Given the description of an element on the screen output the (x, y) to click on. 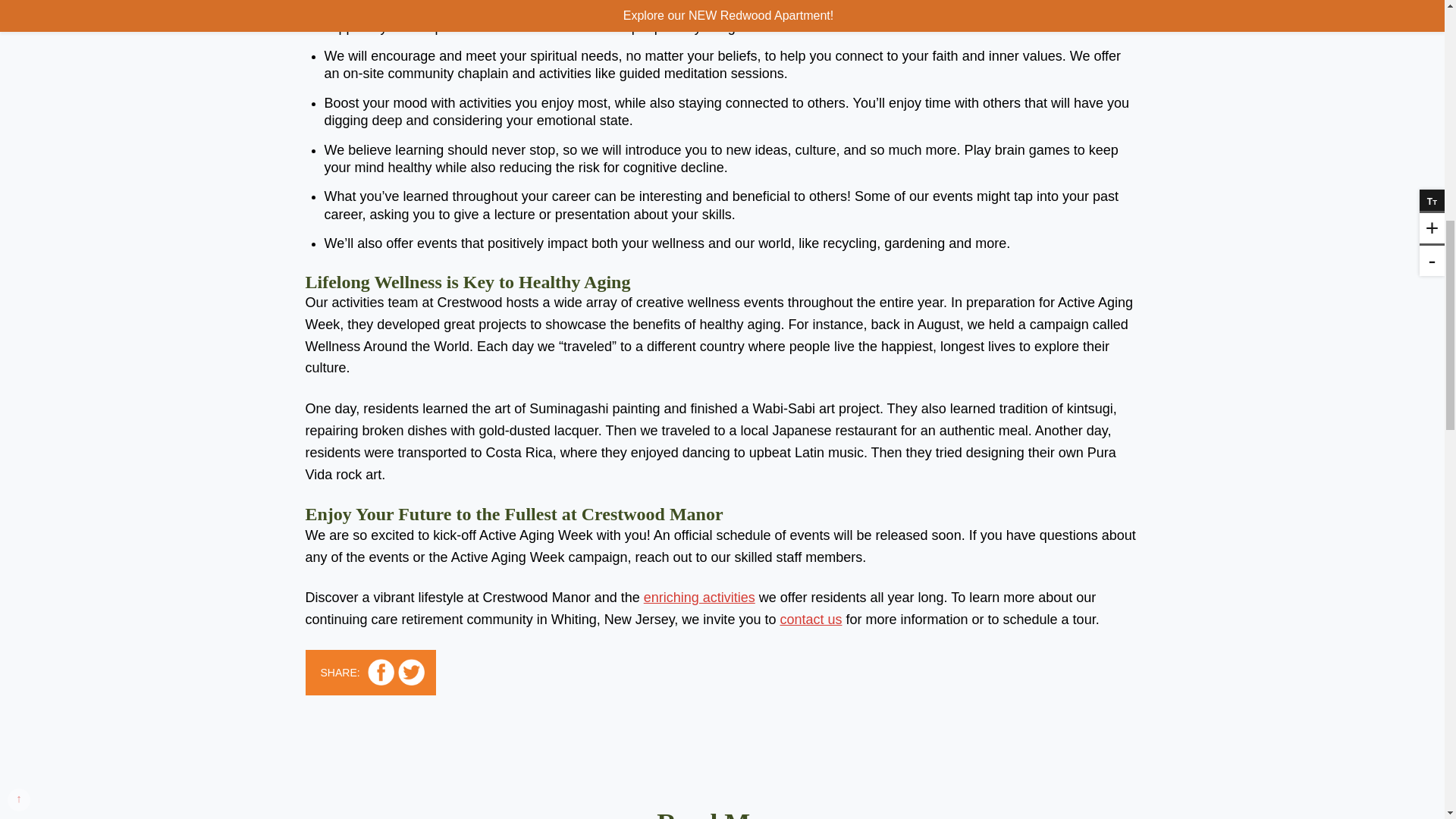
Share on Facebook (381, 672)
Share on Twitter (411, 672)
